Given the description of an element on the screen output the (x, y) to click on. 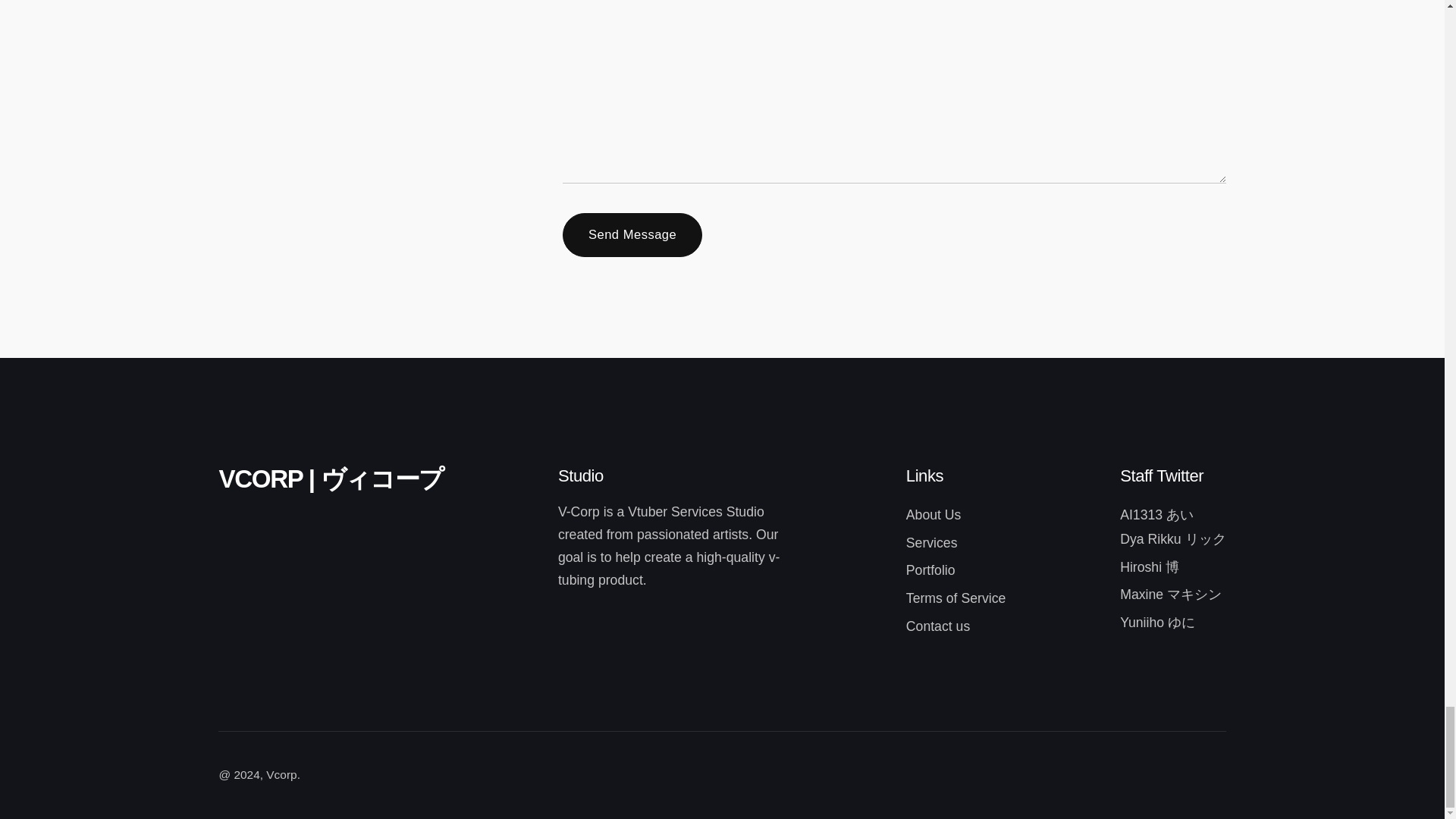
Send Message (632, 234)
